Given the description of an element on the screen output the (x, y) to click on. 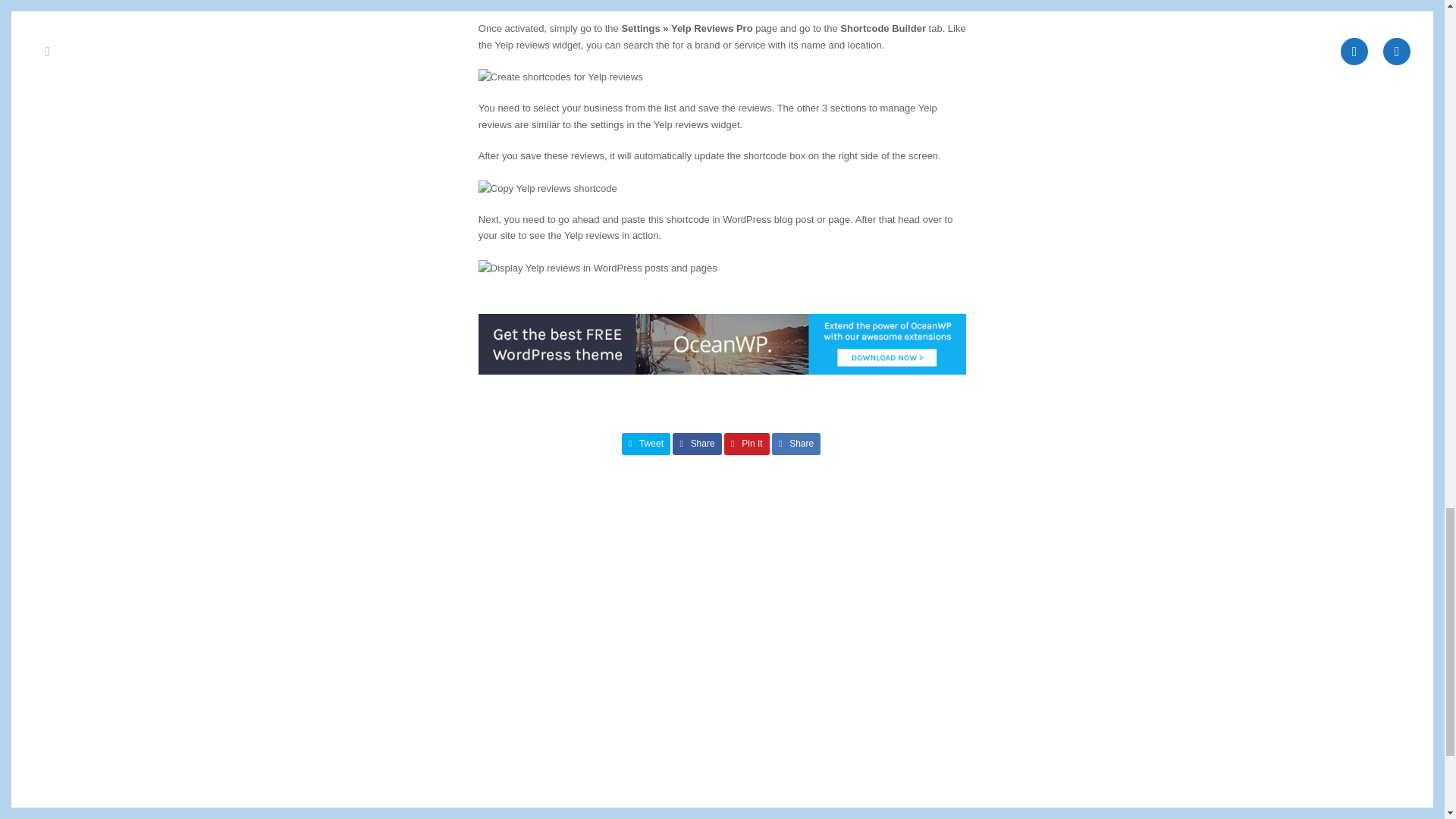
Share (796, 444)
Yelp Reviews Pro (596, 1)
Pin It (746, 444)
Share (697, 444)
Tweet (646, 444)
